Given the description of an element on the screen output the (x, y) to click on. 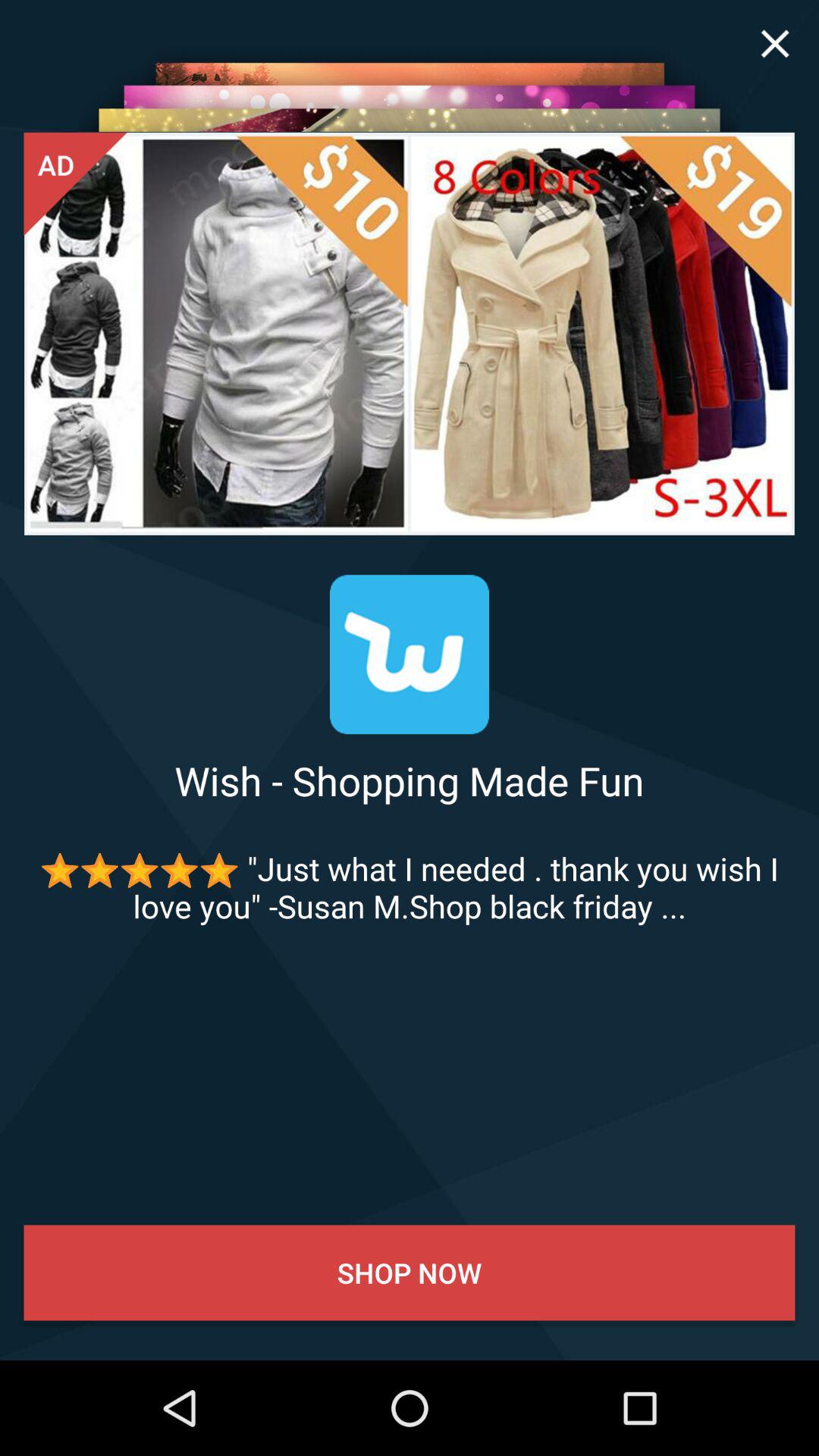
flip until the just what i (409, 886)
